Given the description of an element on the screen output the (x, y) to click on. 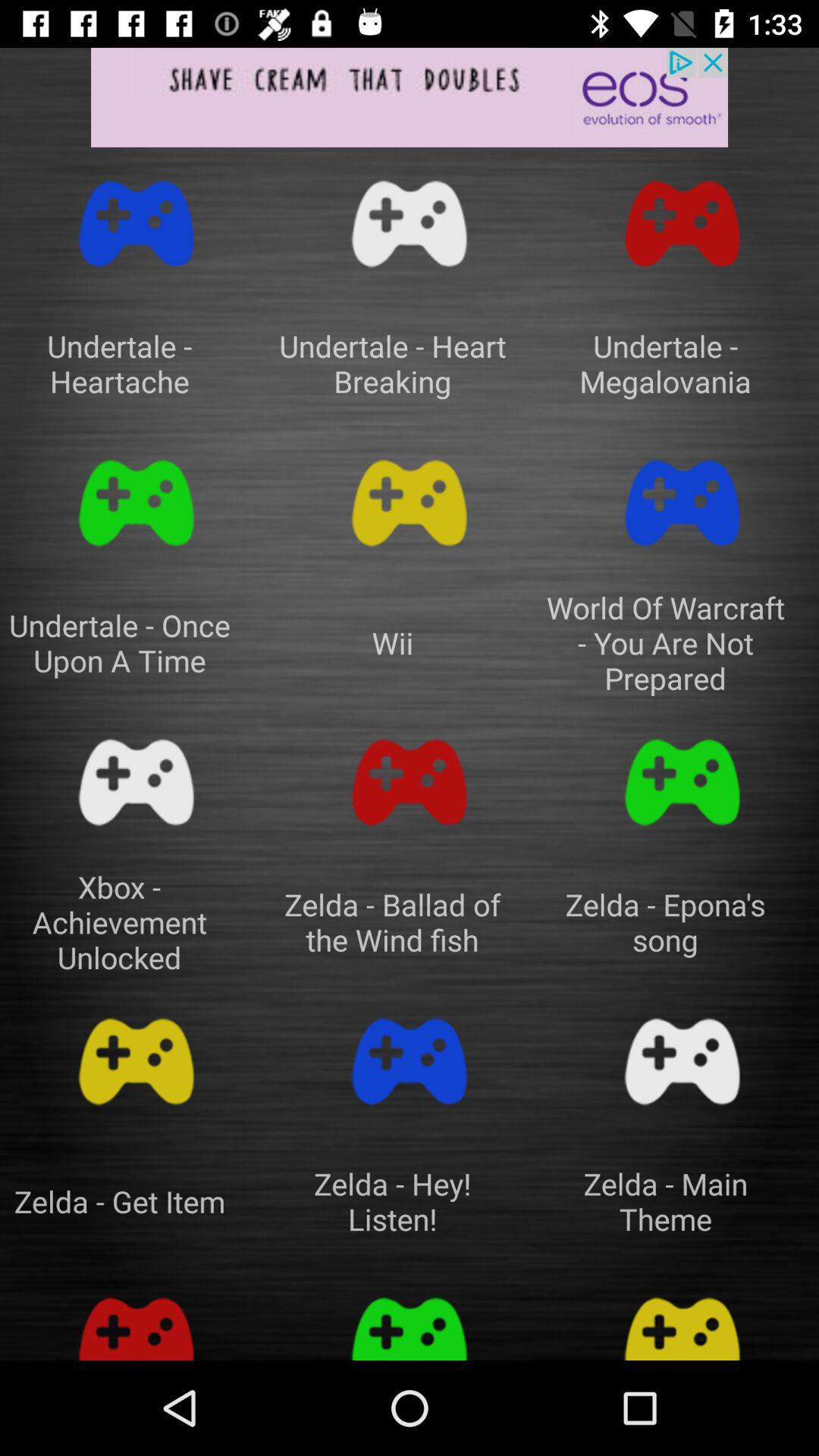
option (682, 1320)
